Given the description of an element on the screen output the (x, y) to click on. 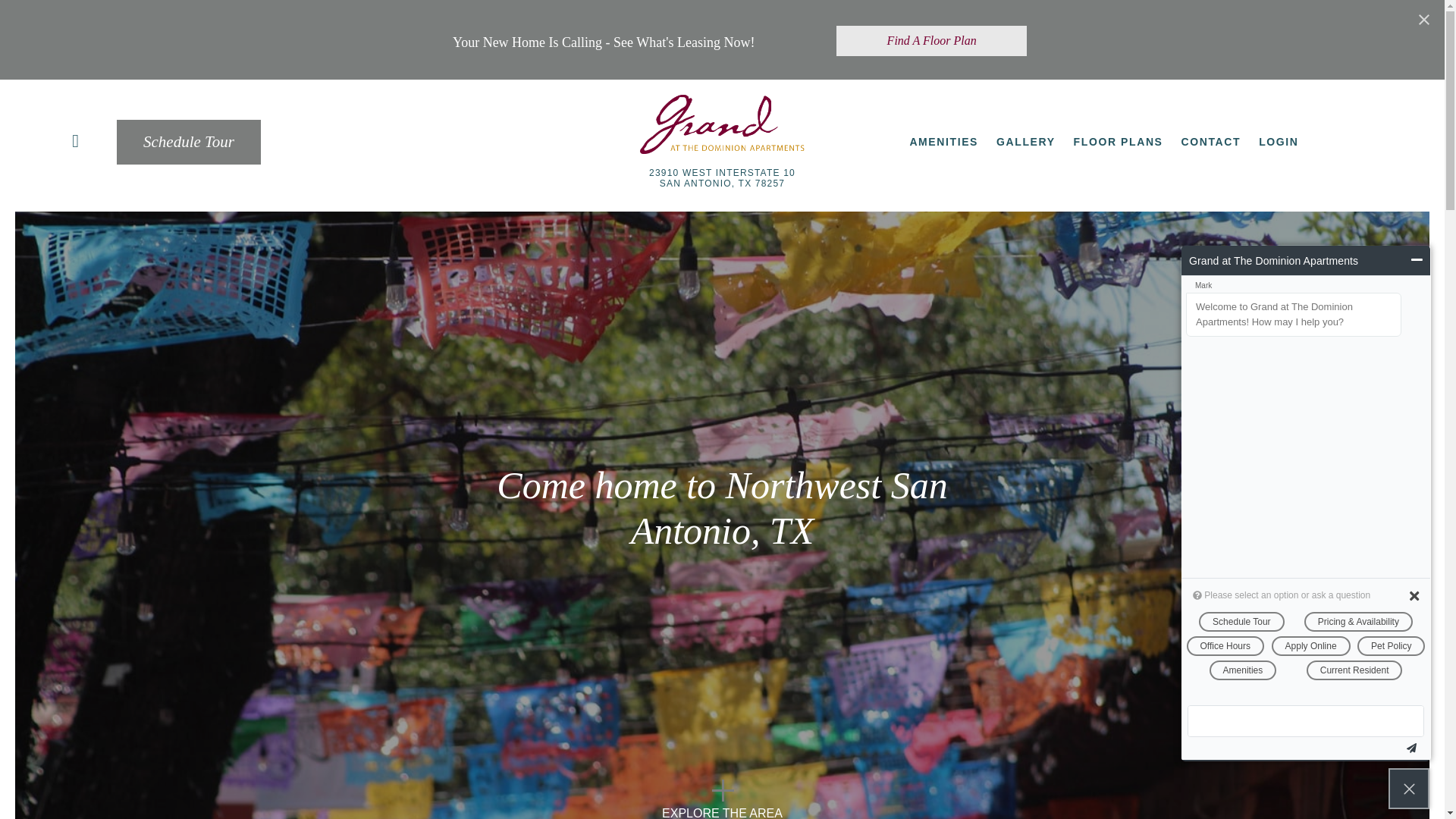
FLOOR PLANS (1118, 141)
Find a Floor Plan (930, 40)
Close (1423, 19)
LOGIN (1281, 141)
AMENITIES (943, 141)
EXPLORE THE AREA (722, 799)
live webchat (1409, 788)
CONTACT (1210, 141)
GALLERY (1025, 141)
Find A Floor Plan (930, 40)
Schedule Tour (188, 141)
